Given the description of an element on the screen output the (x, y) to click on. 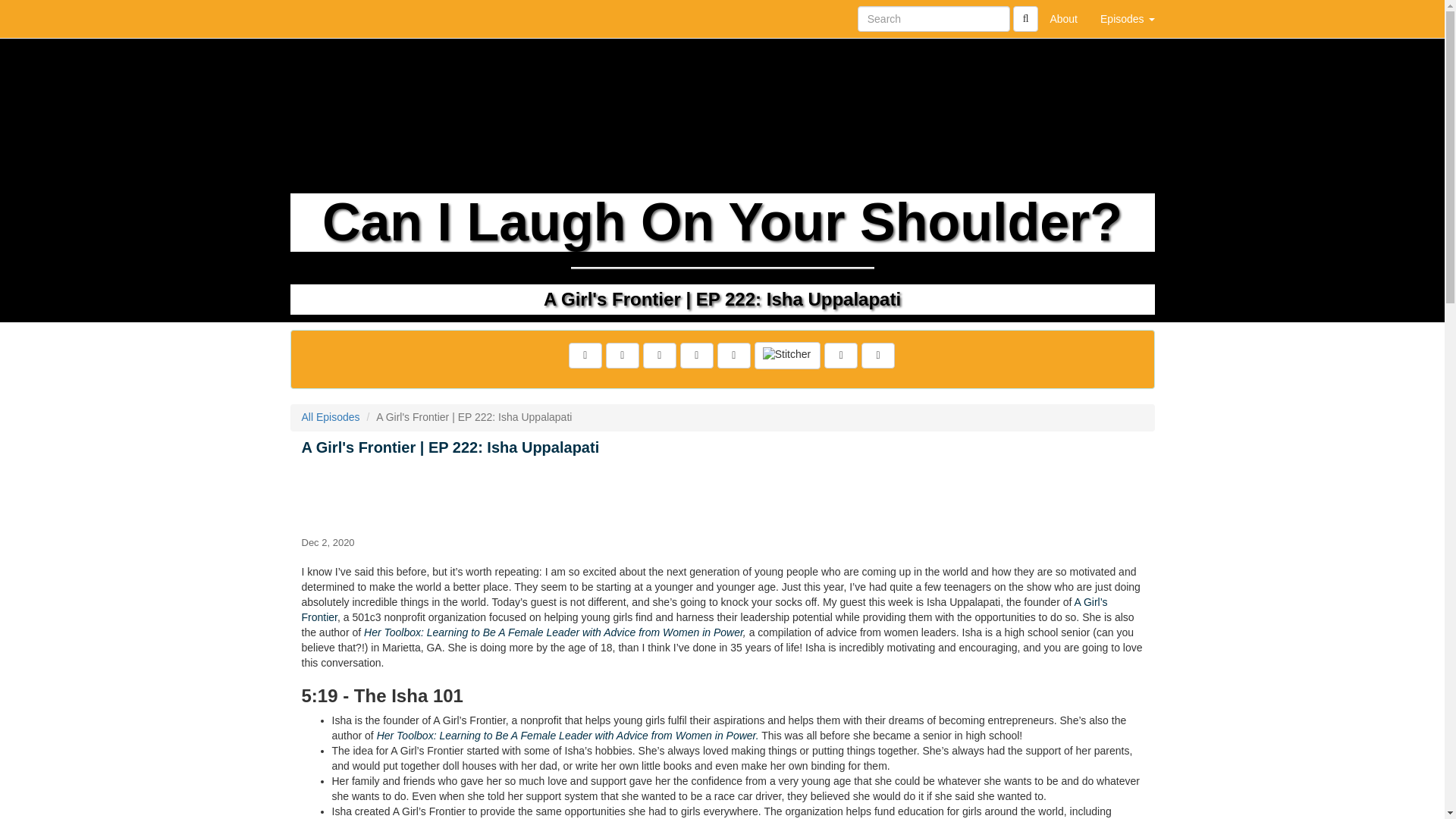
Email This Podcast (660, 355)
Visit Us on Facebook (585, 355)
Go To YouTube Channel (878, 355)
Listen on Spotify (840, 355)
Listen on Stitcher (787, 355)
Visit Us on Twitter (622, 355)
Subscribe to RSS Feed (696, 355)
Home Page (320, 18)
About (1063, 18)
Listen on Apple Podcasts (734, 355)
